Given the description of an element on the screen output the (x, y) to click on. 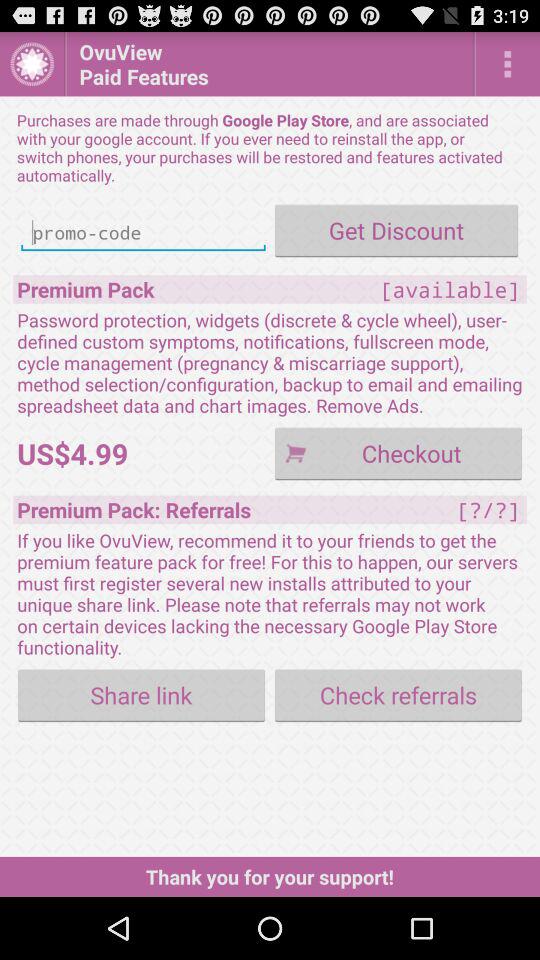
select button to the left of check referrals item (141, 694)
